Given the description of an element on the screen output the (x, y) to click on. 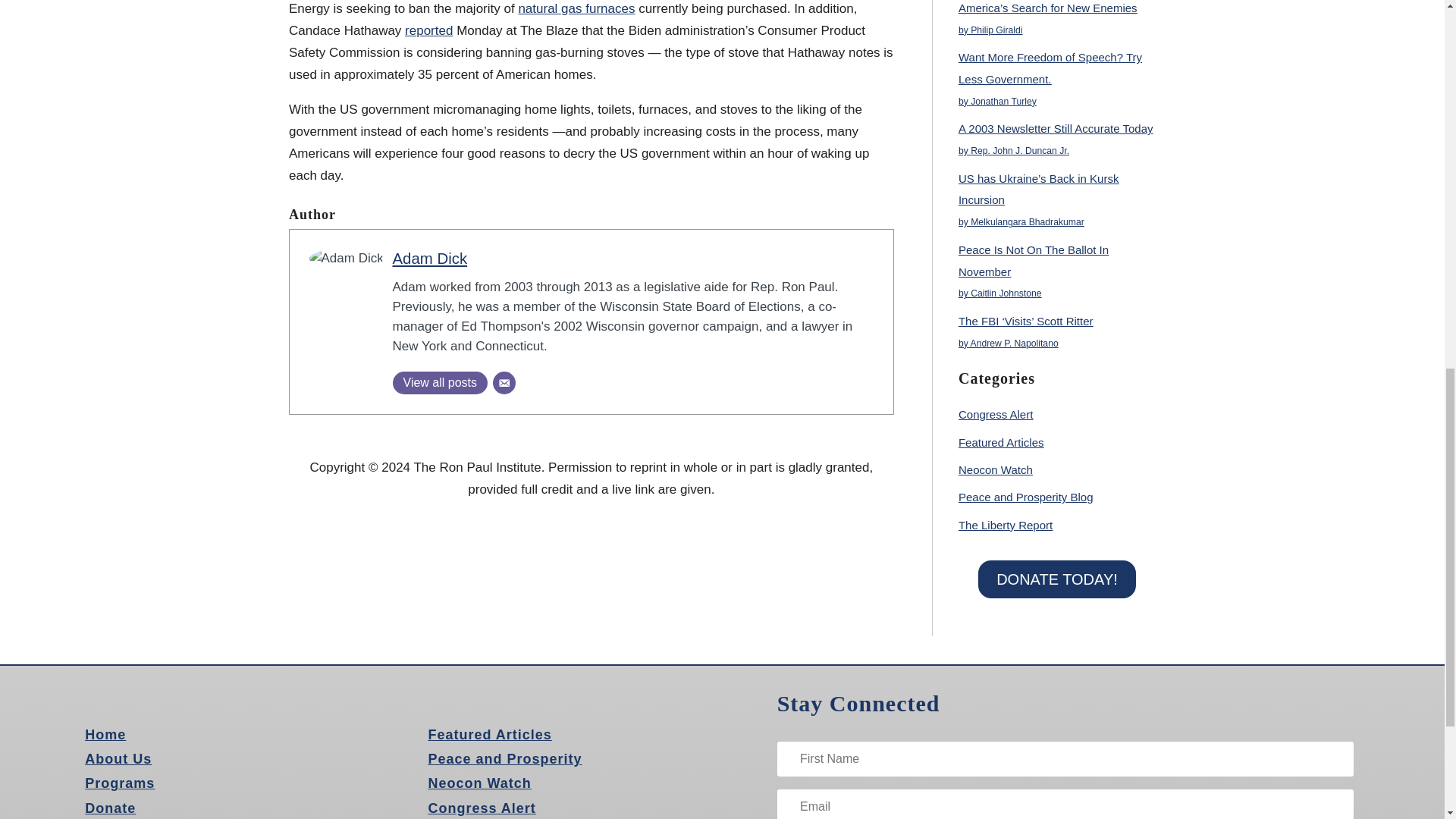
natural gas furnaces (576, 8)
Adam Dick (430, 258)
reported (428, 30)
View all posts (440, 382)
Adam Dick (430, 258)
View all posts (440, 382)
